Given the description of an element on the screen output the (x, y) to click on. 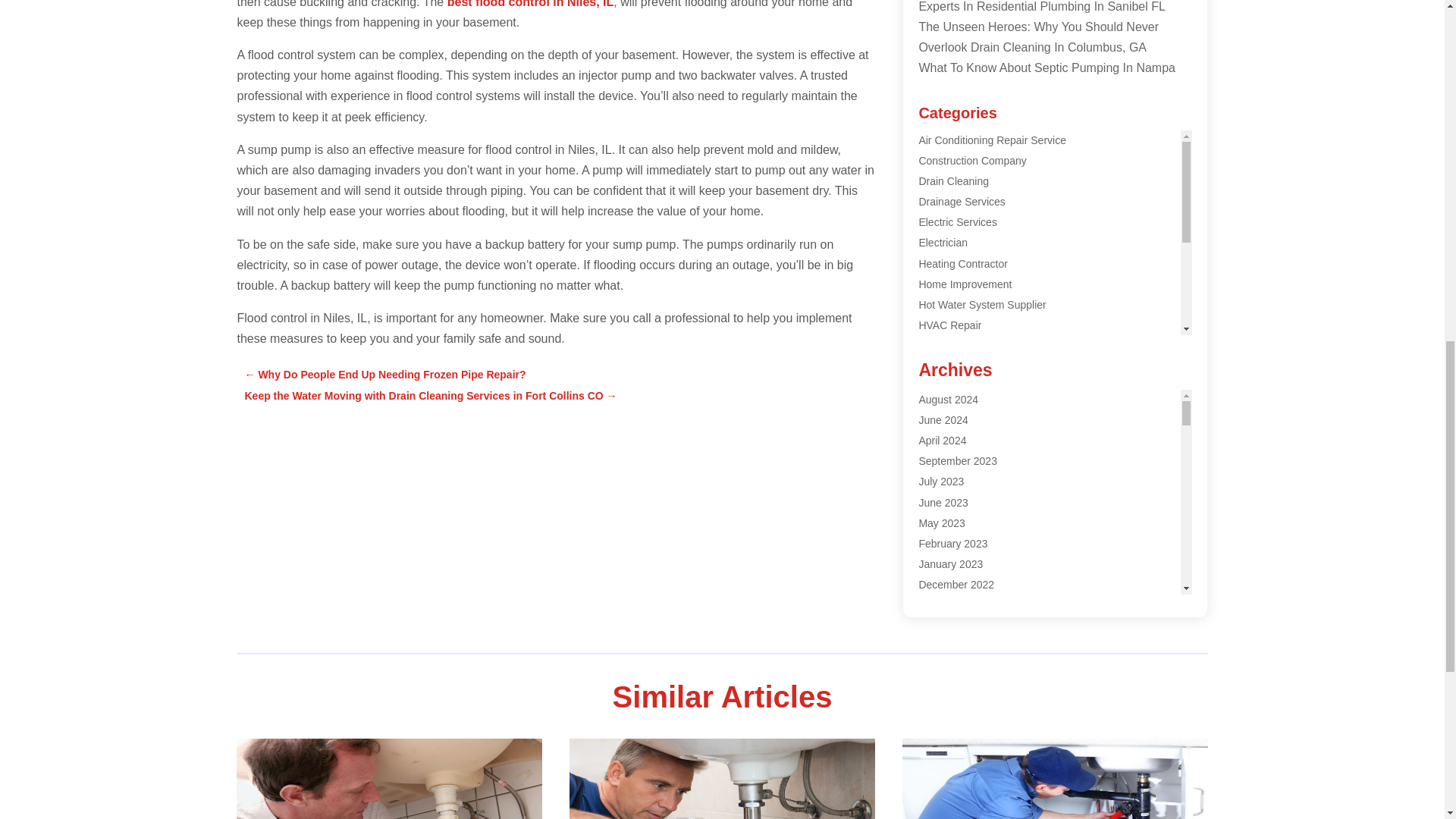
Plumbing Accessories (970, 387)
Septic Tank (945, 449)
Hot Water System Supplier (981, 304)
HVAC Repair (949, 325)
Plumber (938, 345)
Electrician (943, 242)
Air Conditioning Repair Service (991, 140)
Plumbing (940, 367)
best flood control in Niles, IL (530, 4)
